Given the description of an element on the screen output the (x, y) to click on. 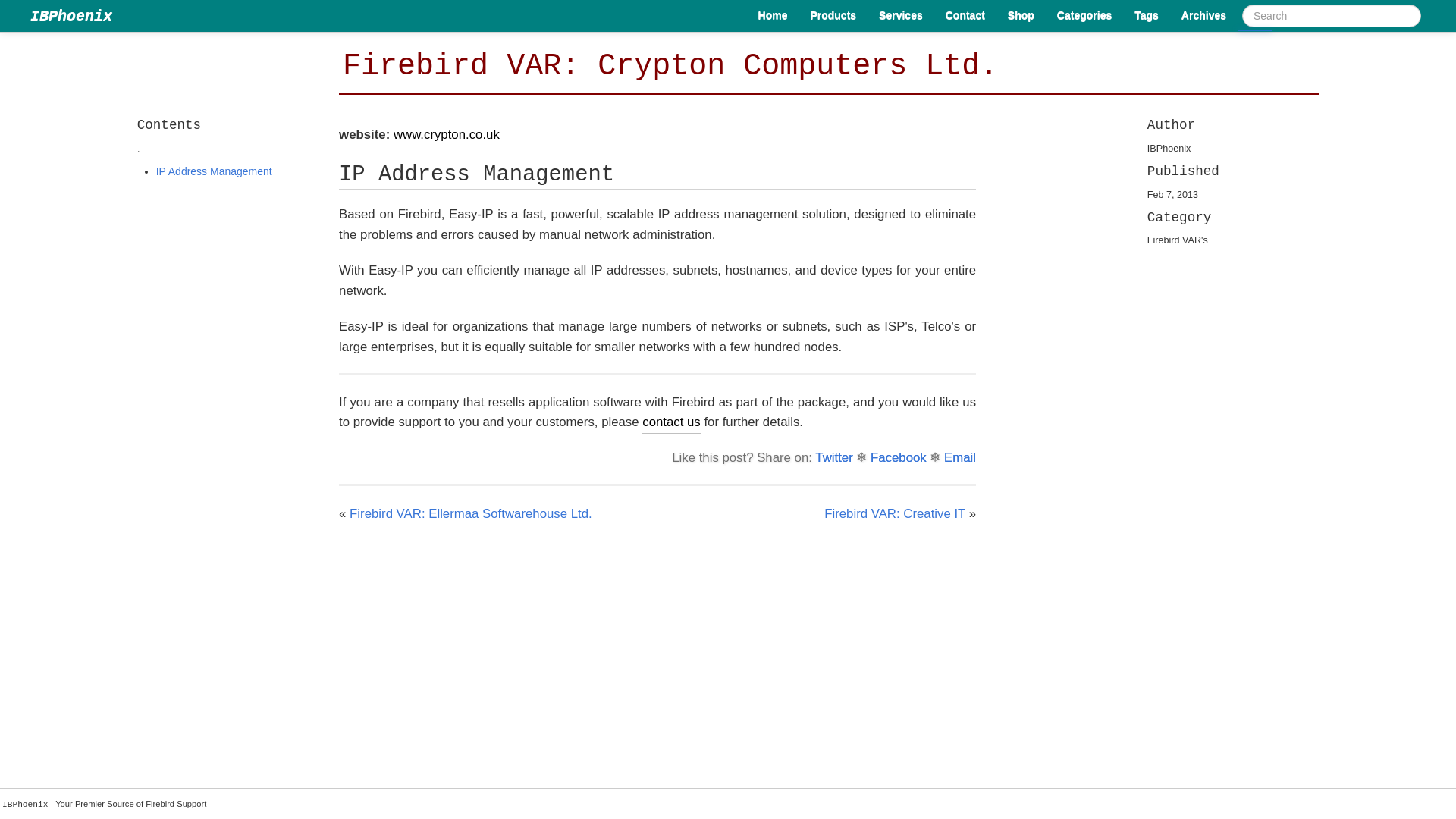
Firebird VAR's (1177, 240)
Previous: Firebird VAR: Ellermaa Softwarehouse Ltd. (470, 513)
Products (832, 15)
Share on Facebook (898, 457)
Share via Email (959, 457)
Share on X (833, 457)
Firebird VAR: Ellermaa Softwarehouse Ltd. (470, 513)
Facebook (898, 457)
contact us (671, 422)
Services (900, 15)
